Given the description of an element on the screen output the (x, y) to click on. 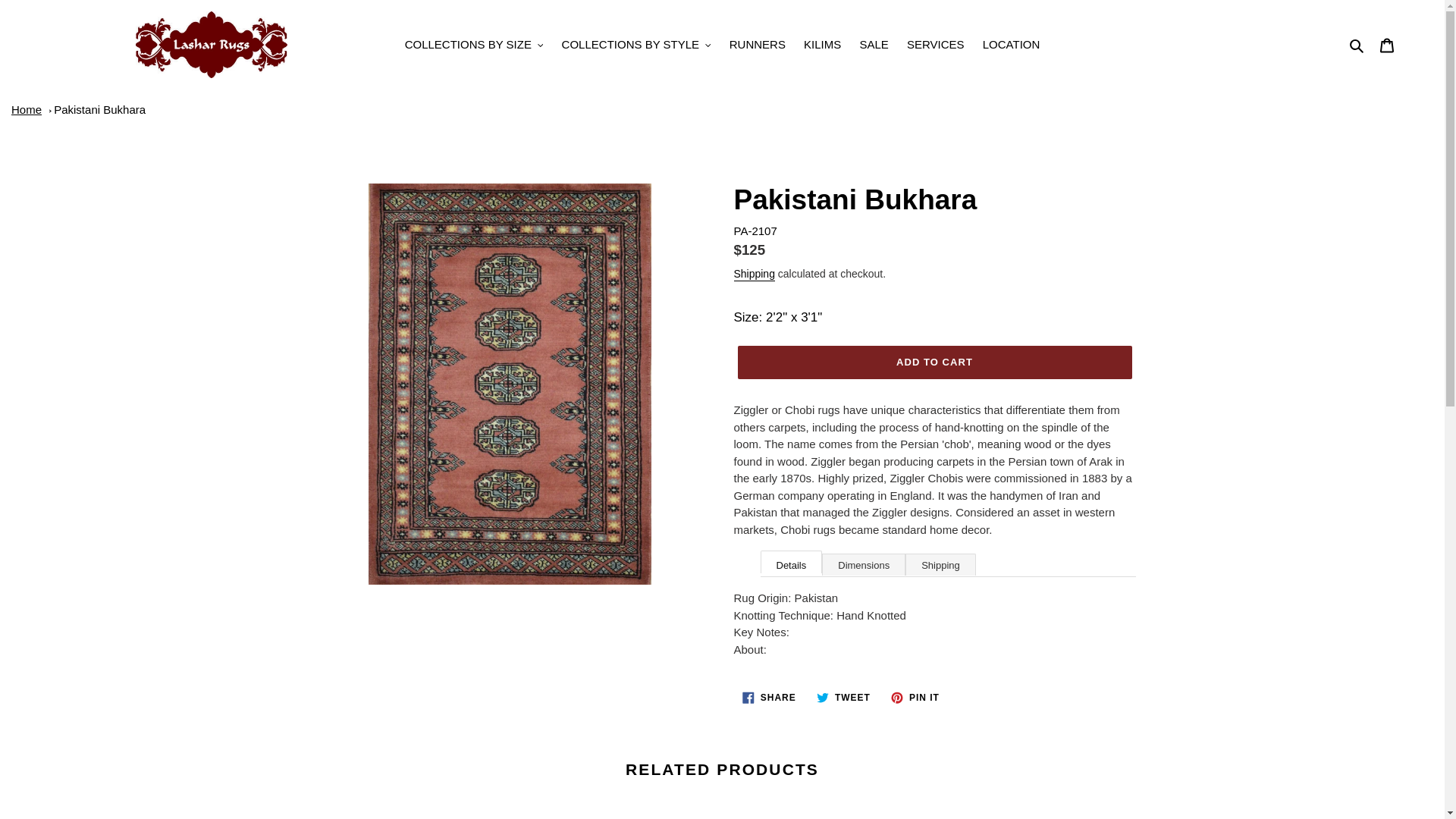
KILIMS (822, 45)
RUNNERS (757, 45)
SERVICES (935, 45)
SALE (873, 45)
LOCATION (1011, 45)
Cart (1387, 44)
Search (1357, 45)
COLLECTIONS BY SIZE (474, 45)
COLLECTIONS BY STYLE (636, 45)
